Given the description of an element on the screen output the (x, y) to click on. 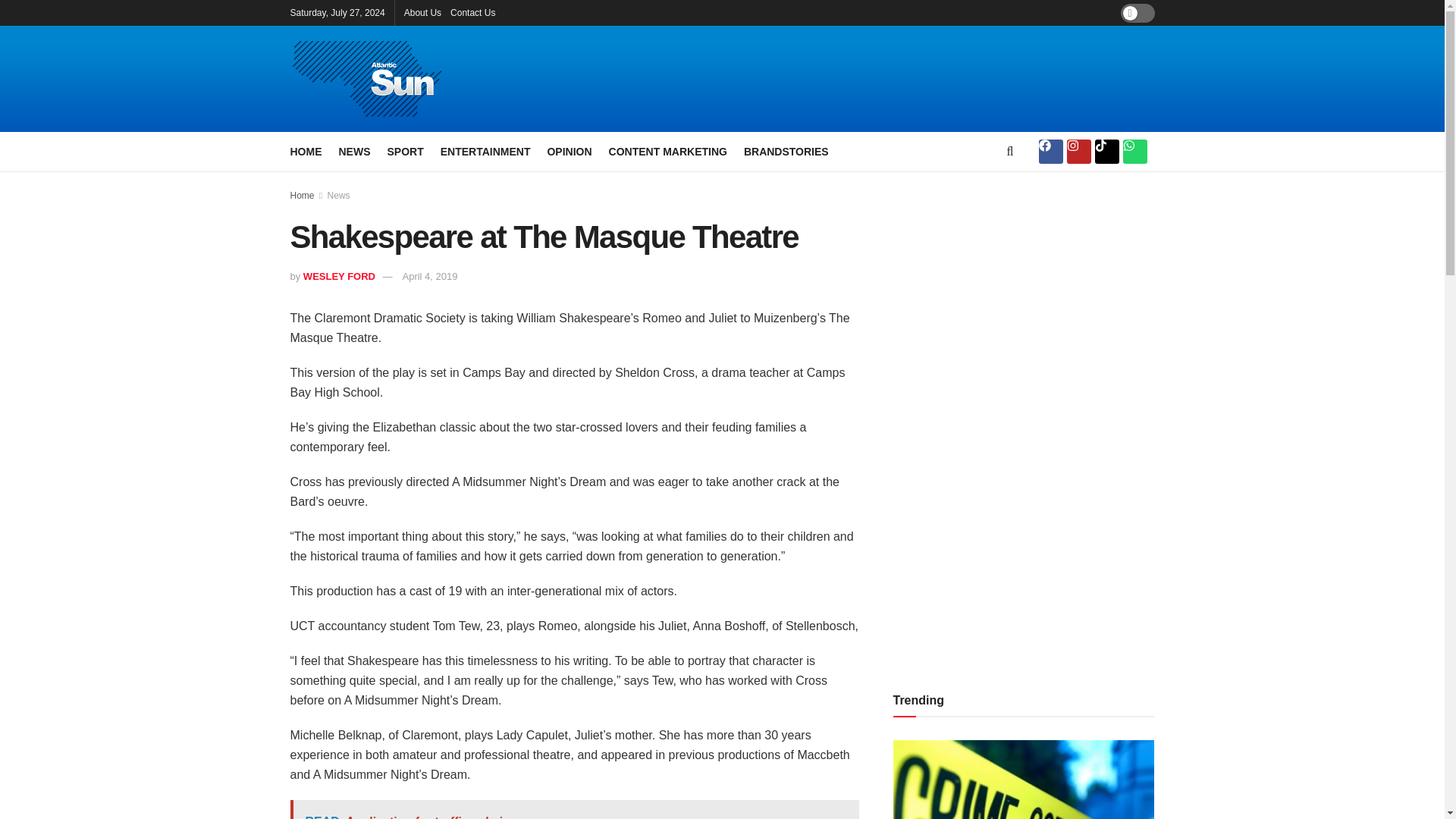
NEWS (353, 151)
Contact Us (472, 12)
OPINION (569, 151)
HOME (305, 151)
April 4, 2019 (429, 276)
News (338, 195)
ENTERTAINMENT (486, 151)
Home (301, 195)
CONTENT MARKETING (667, 151)
3rd party ad content (888, 79)
BRANDSTORIES (786, 151)
About Us (422, 12)
SPORT (405, 151)
WESLEY FORD (338, 276)
READ  Application for traffic calming measures (574, 809)
